Given the description of an element on the screen output the (x, y) to click on. 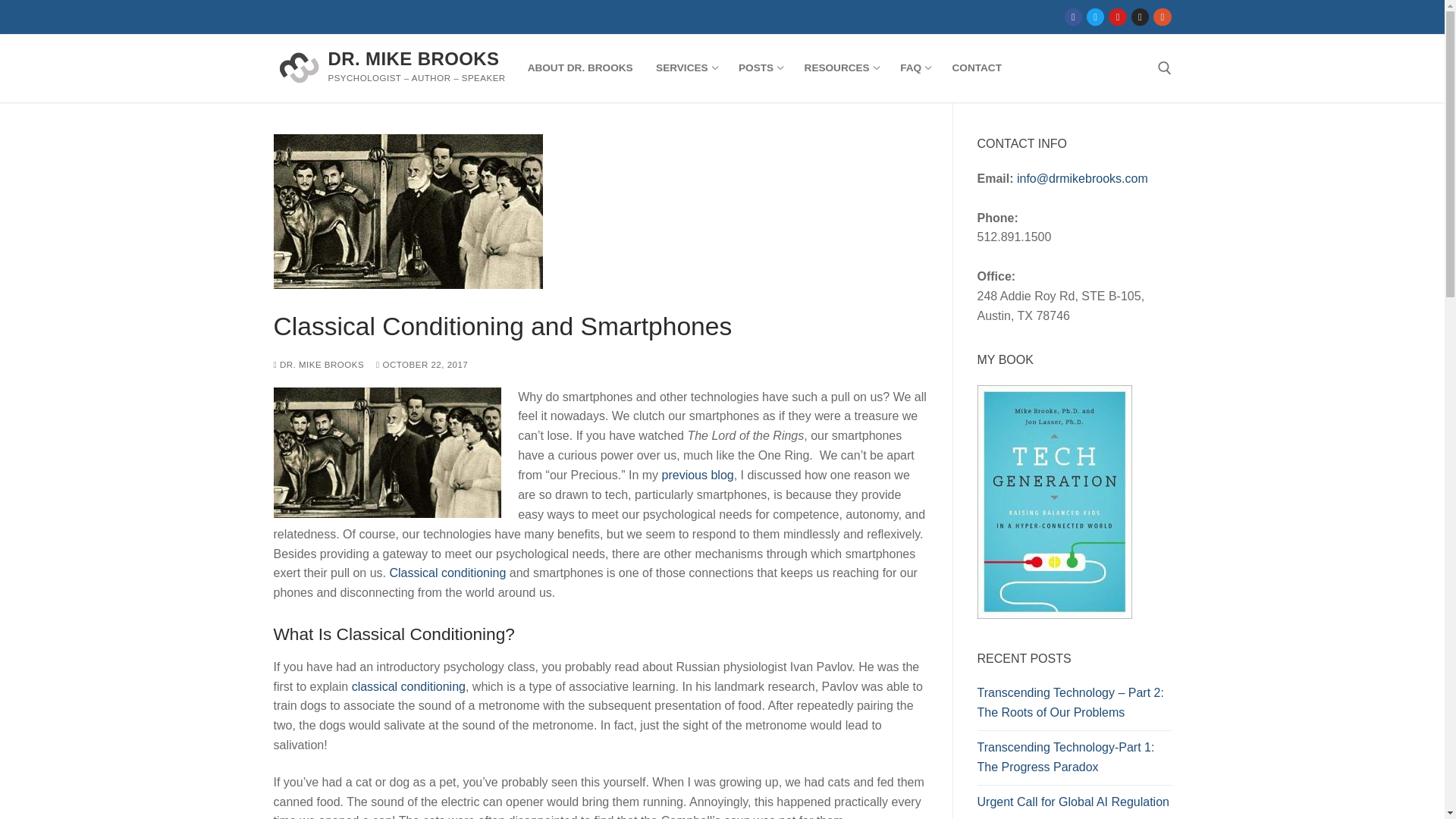
Facebook (1073, 17)
Instagram (1139, 17)
CONTACT (914, 68)
DR. MIKE BROOKS (976, 68)
Youtube (685, 68)
Twitter (413, 57)
ABOUT DR. BROOKS (1117, 17)
